Given the description of an element on the screen output the (x, y) to click on. 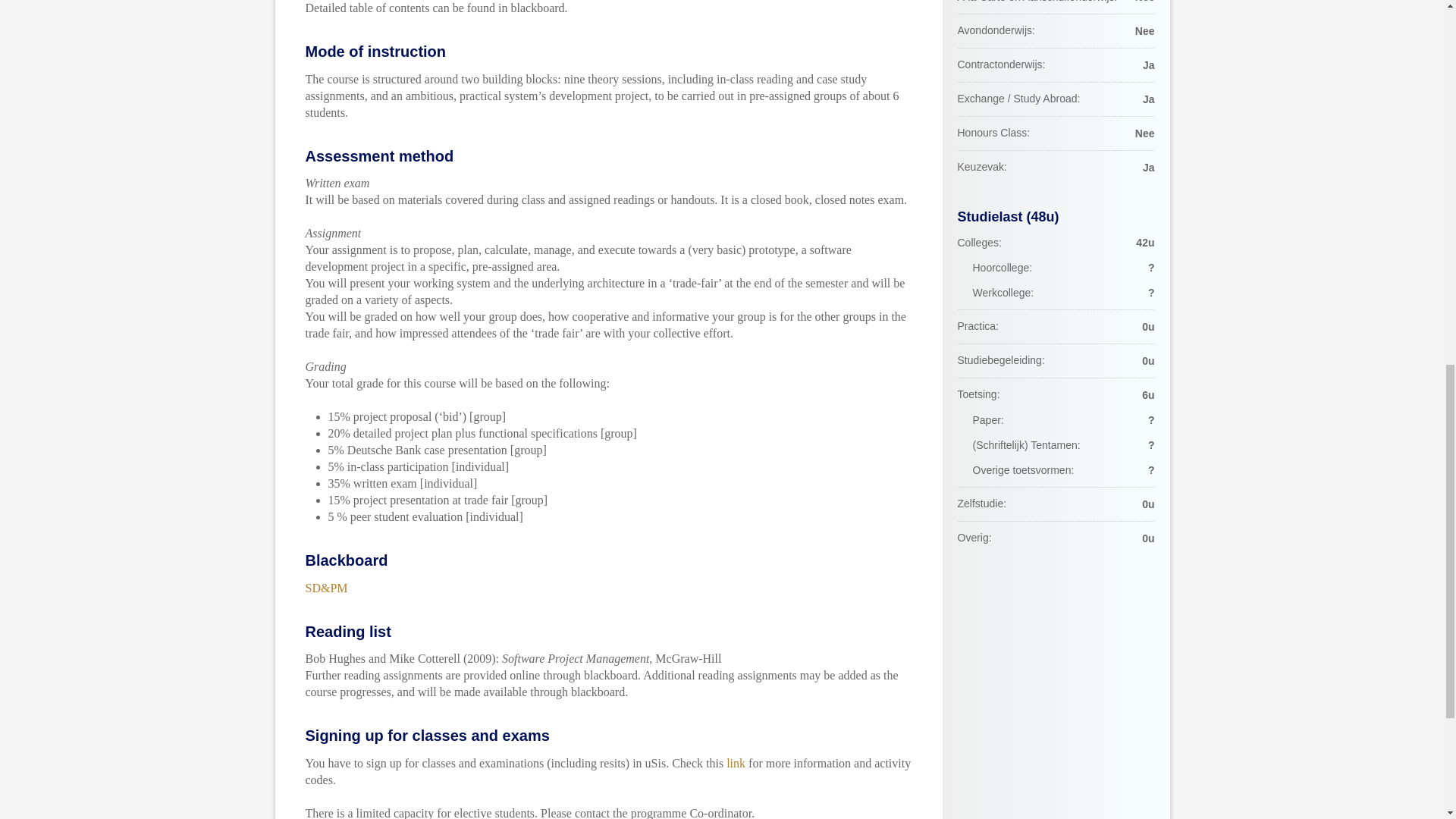
link (735, 762)
